Given the description of an element on the screen output the (x, y) to click on. 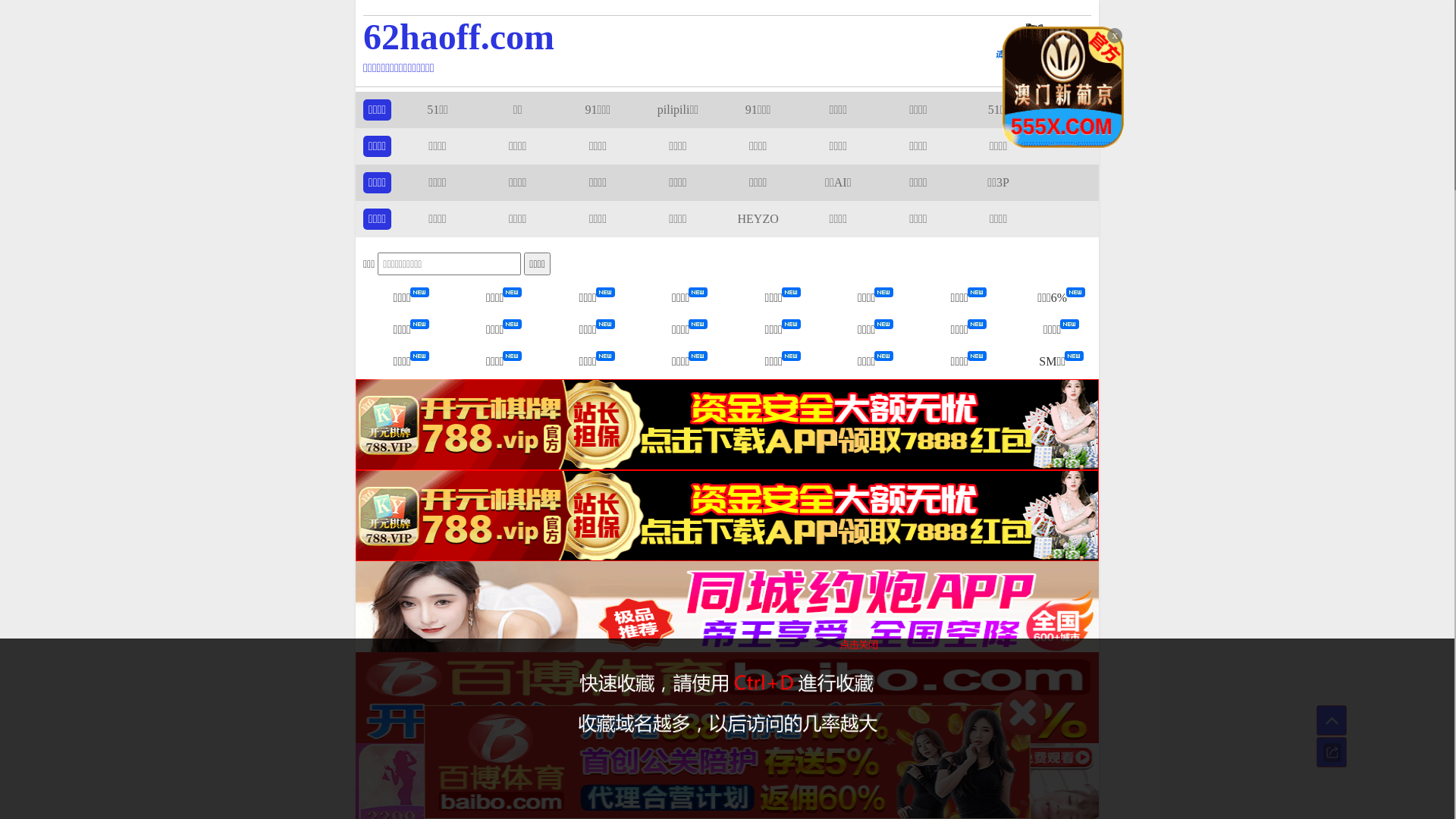
HEYZO Element type: text (757, 218)
62haoff.com Element type: text (654, 36)
